Given the description of an element on the screen output the (x, y) to click on. 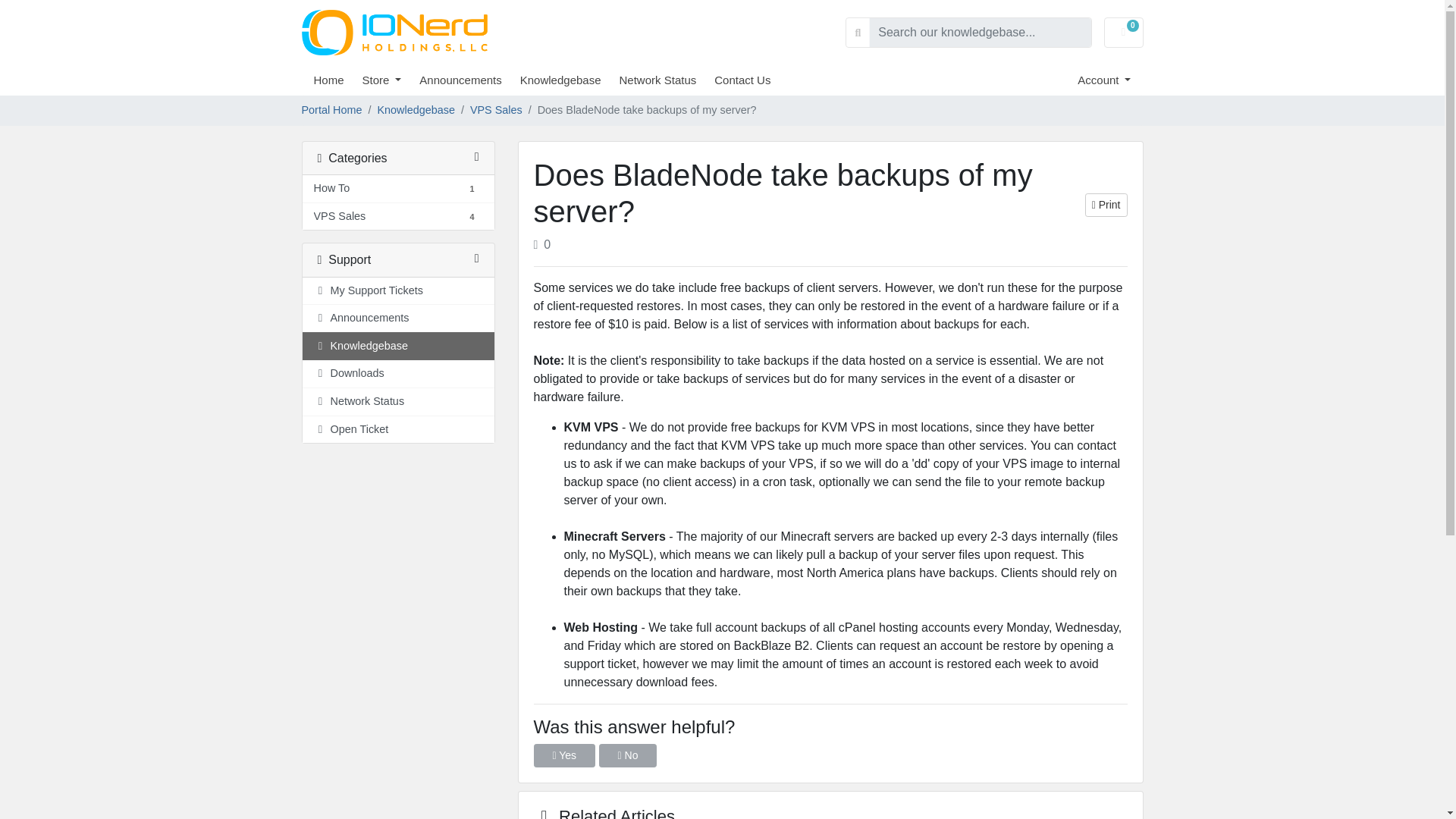
Yes (564, 755)
Announcements (469, 79)
Knowledgebase (569, 79)
Portal Home (331, 110)
VPS Sales (397, 189)
Account (340, 216)
Network Status (1104, 79)
Network Status (397, 402)
Announcements (667, 79)
